Given the description of an element on the screen output the (x, y) to click on. 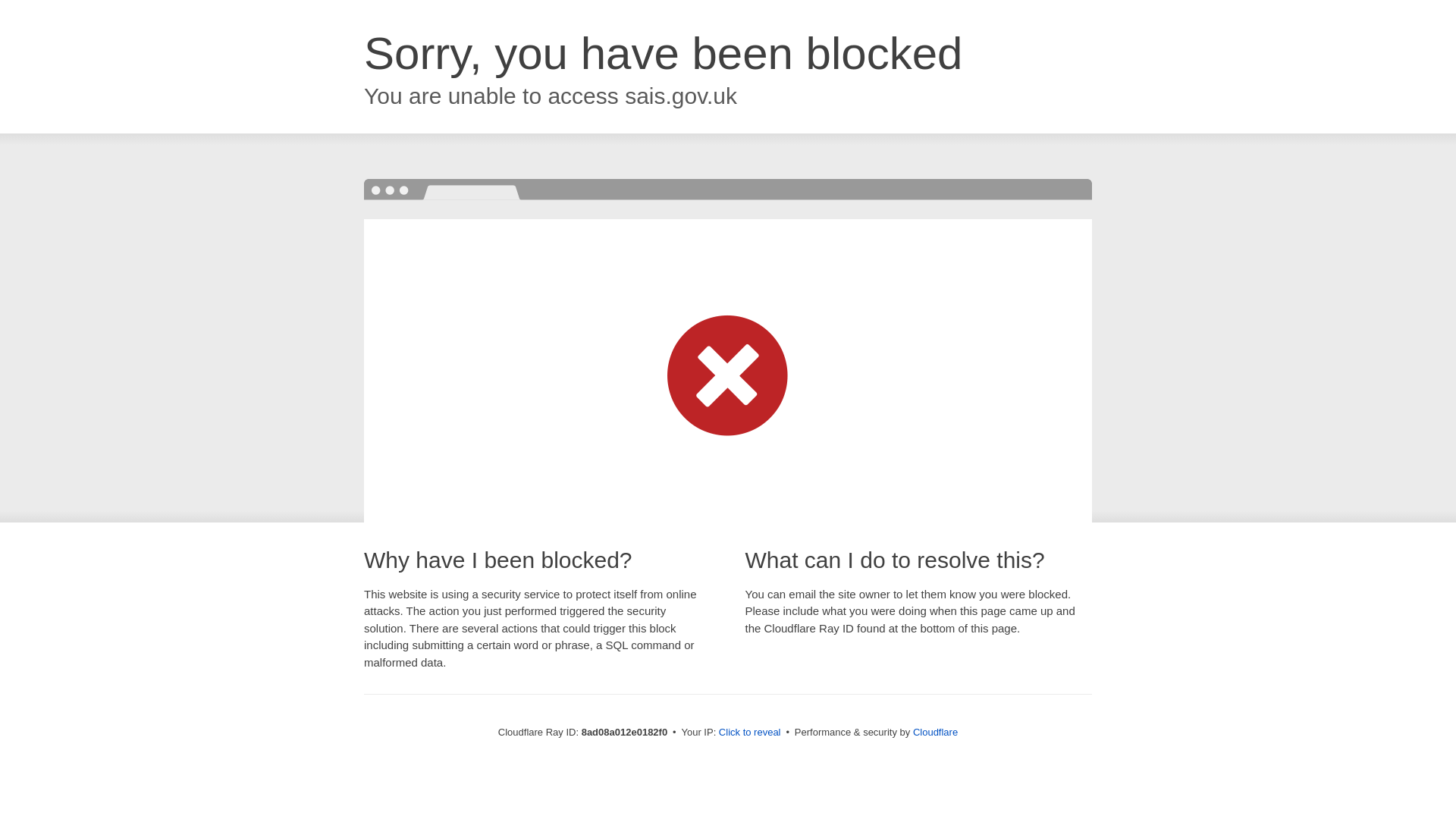
Cloudflare (935, 731)
Click to reveal (749, 732)
